Given the description of an element on the screen output the (x, y) to click on. 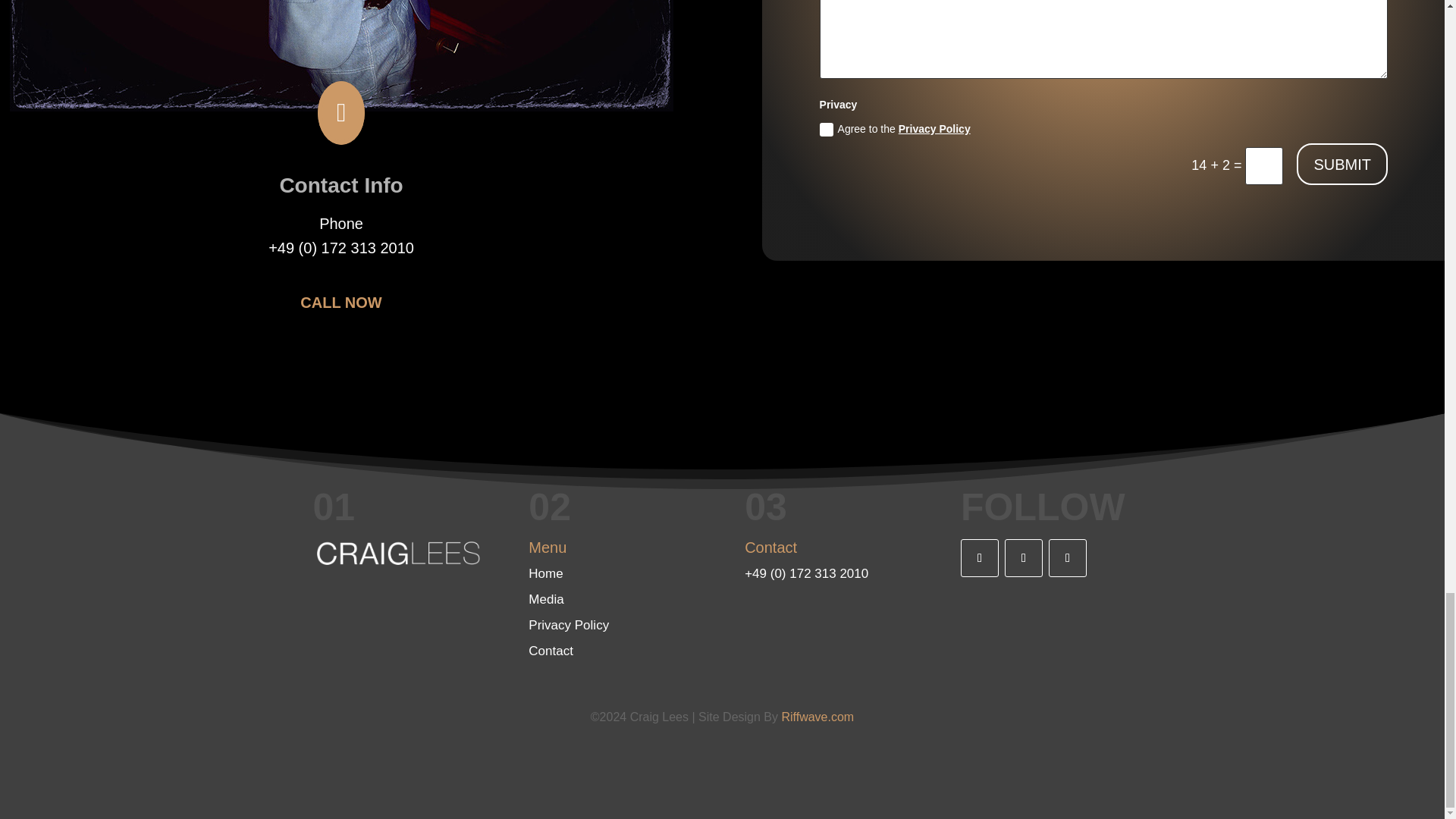
Privacy Policy (934, 128)
Media (545, 599)
Follow on Facebook (979, 557)
Contact Info (341, 185)
SUBMIT (1342, 164)
Privacy Policy (568, 625)
Contact (550, 650)
Home (545, 573)
Follow on Youtube (1023, 557)
Riffwave.com (816, 716)
